Given the description of an element on the screen output the (x, y) to click on. 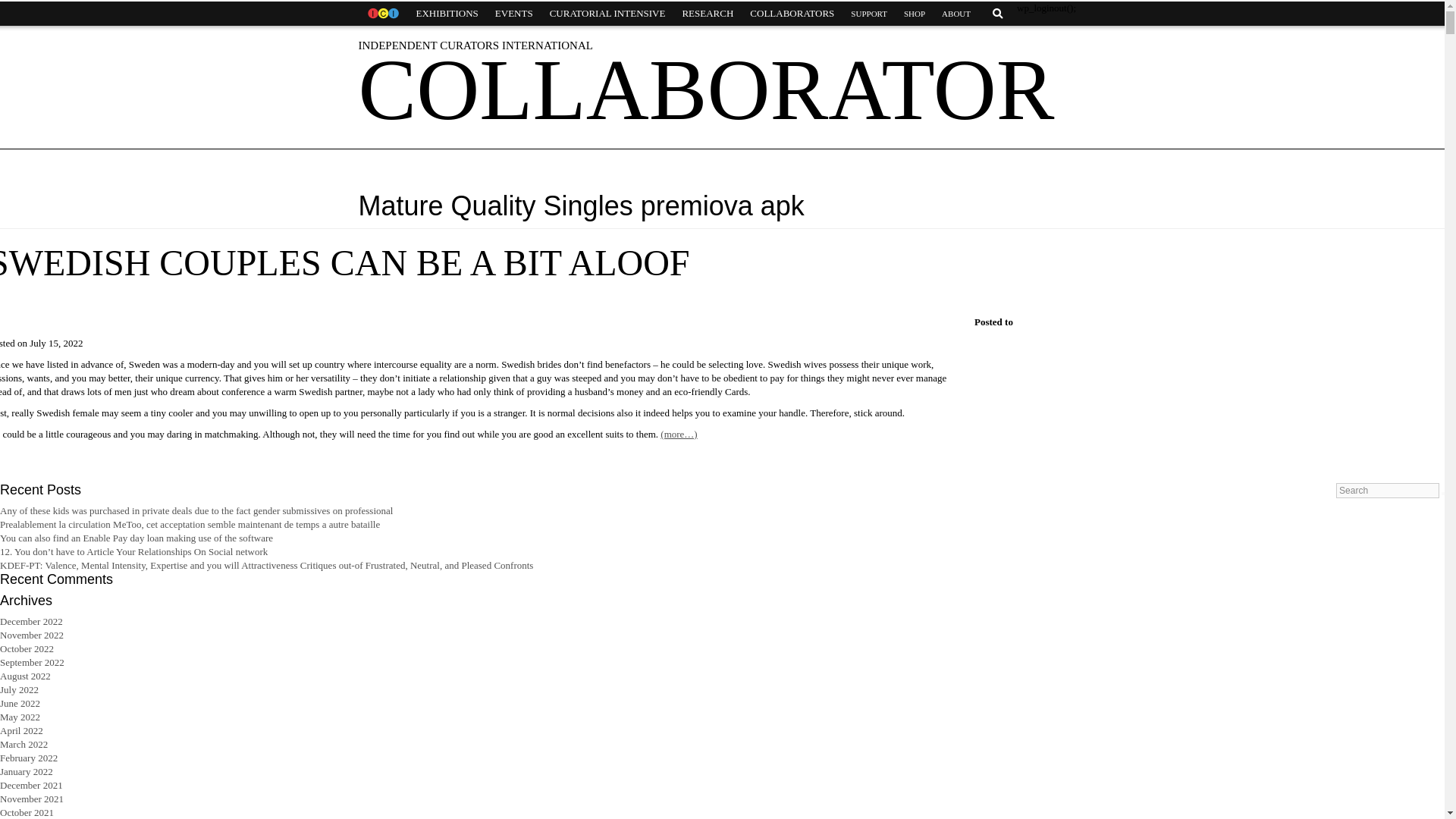
CURATORIAL INTENSIVE (607, 13)
EVENTS (513, 13)
RESEARCH (706, 13)
EXHIBITIONS (446, 13)
HOME (382, 13)
COLLABORATORS (792, 13)
